Given the description of an element on the screen output the (x, y) to click on. 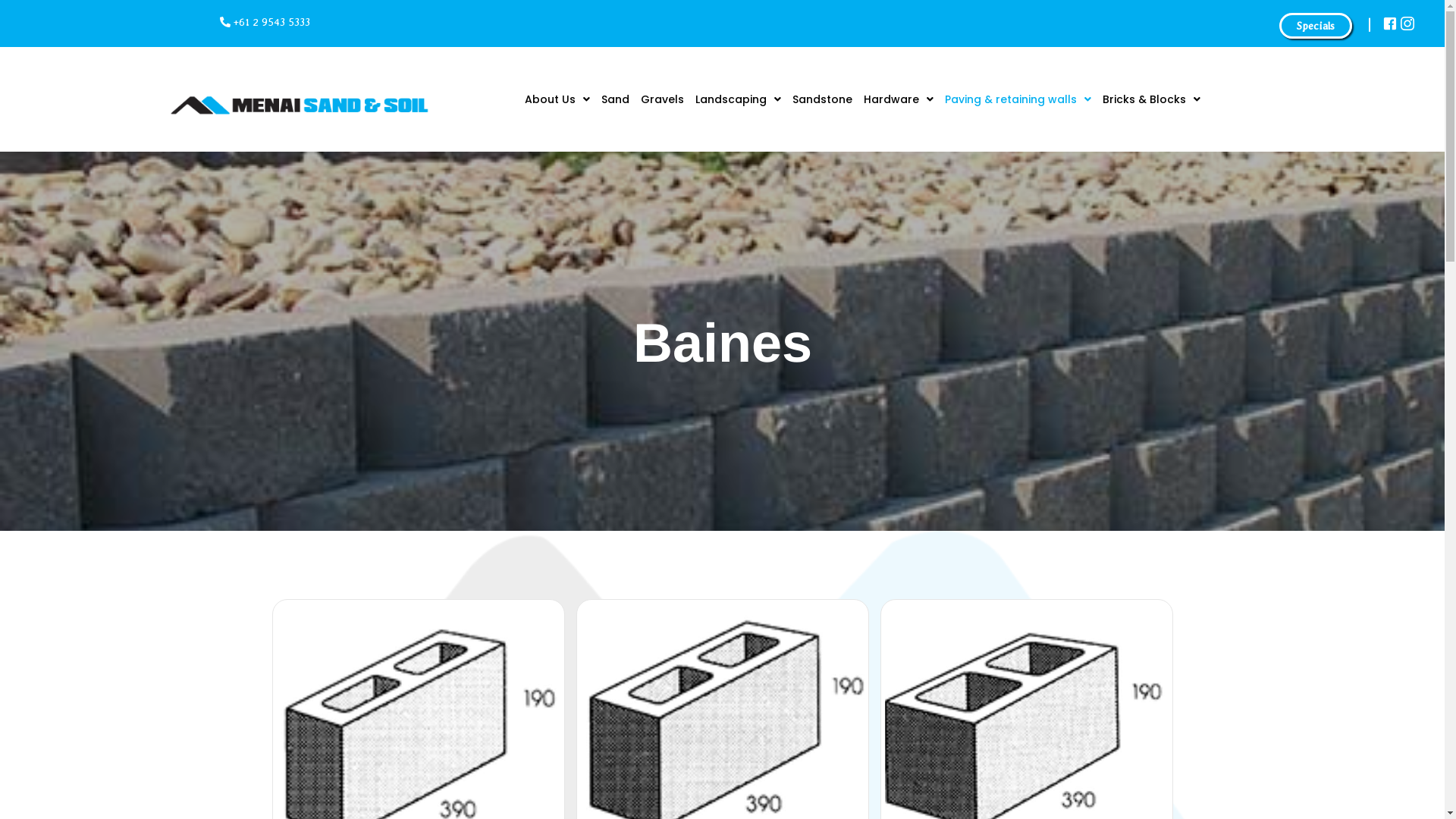
MenaiSS_Big_LOGO_1_Transparent Element type: hover (299, 99)
Bricks & Blocks Element type: text (1156, 99)
+61 2 9543 5333 Element type: text (264, 21)
Landscaping Element type: text (743, 99)
Gravels Element type: text (667, 99)
200 Series Besser Blocks Element type: hover (1025, 731)
Sandstone Element type: text (827, 99)
Paving & retaining walls Element type: text (1023, 99)
About Us Element type: text (562, 99)
100 Series Besser Blocks Element type: hover (417, 731)
Sand Element type: text (620, 99)
Hardware Element type: text (903, 99)
Specials Element type: text (1315, 25)
150 Series Besser Block Element type: hover (722, 731)
